Given the description of an element on the screen output the (x, y) to click on. 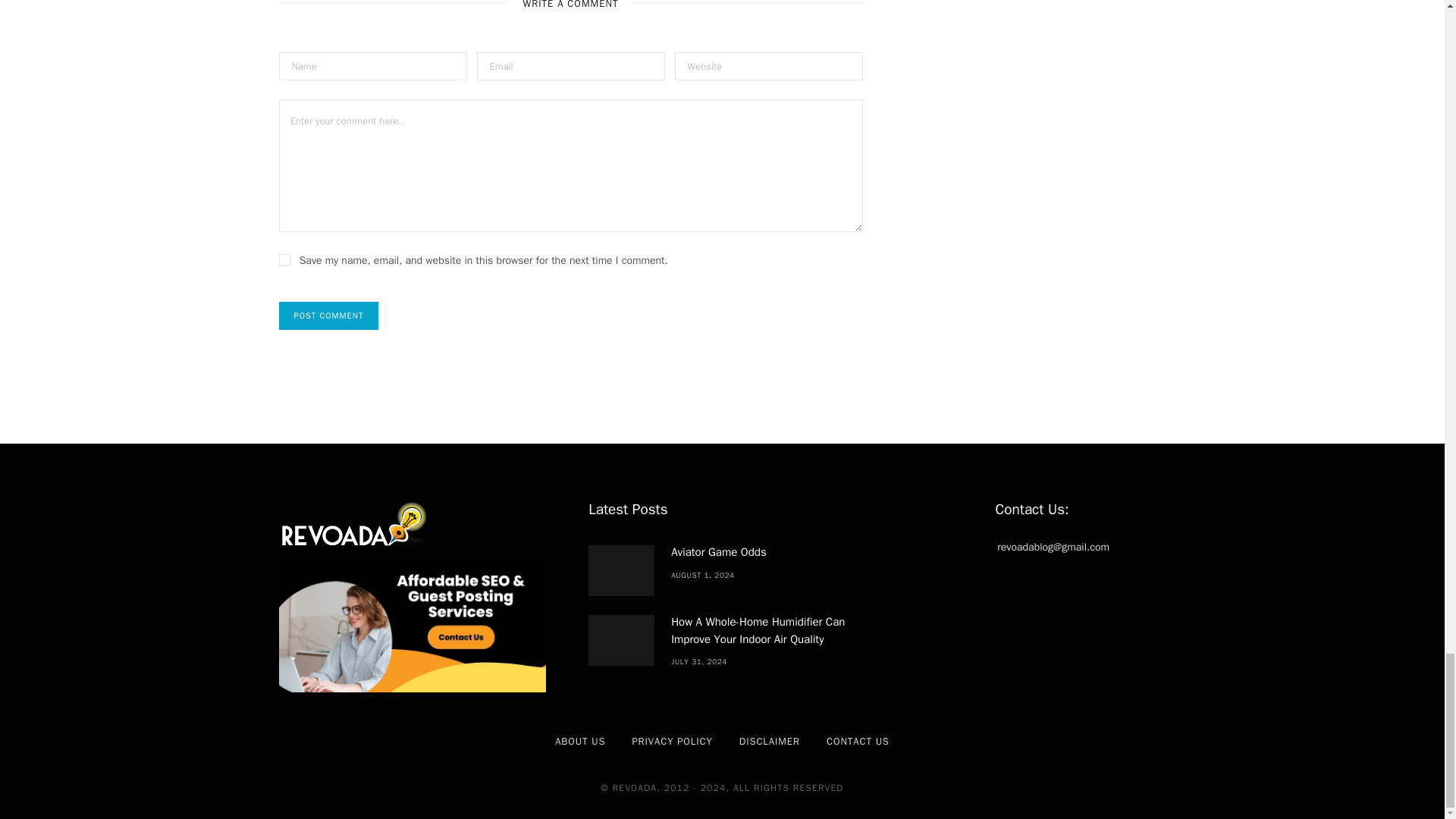
yes (285, 259)
Post Comment (328, 316)
